Given the description of an element on the screen output the (x, y) to click on. 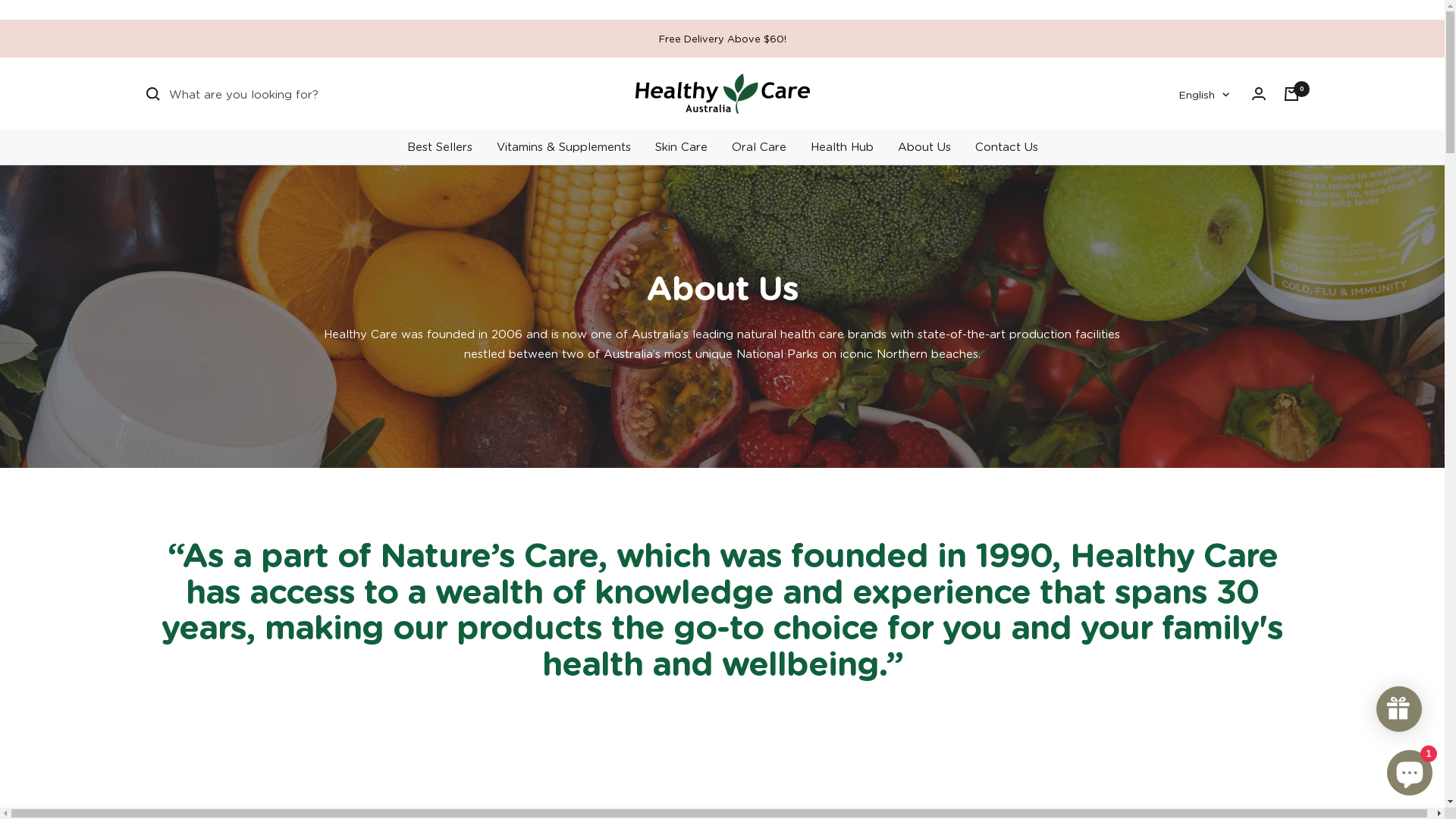
Vitamins & Supplements Element type: text (562, 146)
Oral Care Element type: text (758, 146)
0 Element type: text (1290, 93)
Skin Care Element type: text (681, 146)
ms Element type: text (1195, 170)
en Element type: text (1195, 146)
About Us Element type: text (923, 146)
Healthy Care Australia - Vitamins & Supplements Store Online Element type: text (722, 93)
Best Sellers Element type: text (438, 146)
Health Hub Element type: text (840, 146)
zh-CN Element type: text (1195, 196)
Shopify online store chat Element type: hover (1409, 769)
Contact Us Element type: text (1006, 146)
English Element type: text (1203, 93)
